Given the description of an element on the screen output the (x, y) to click on. 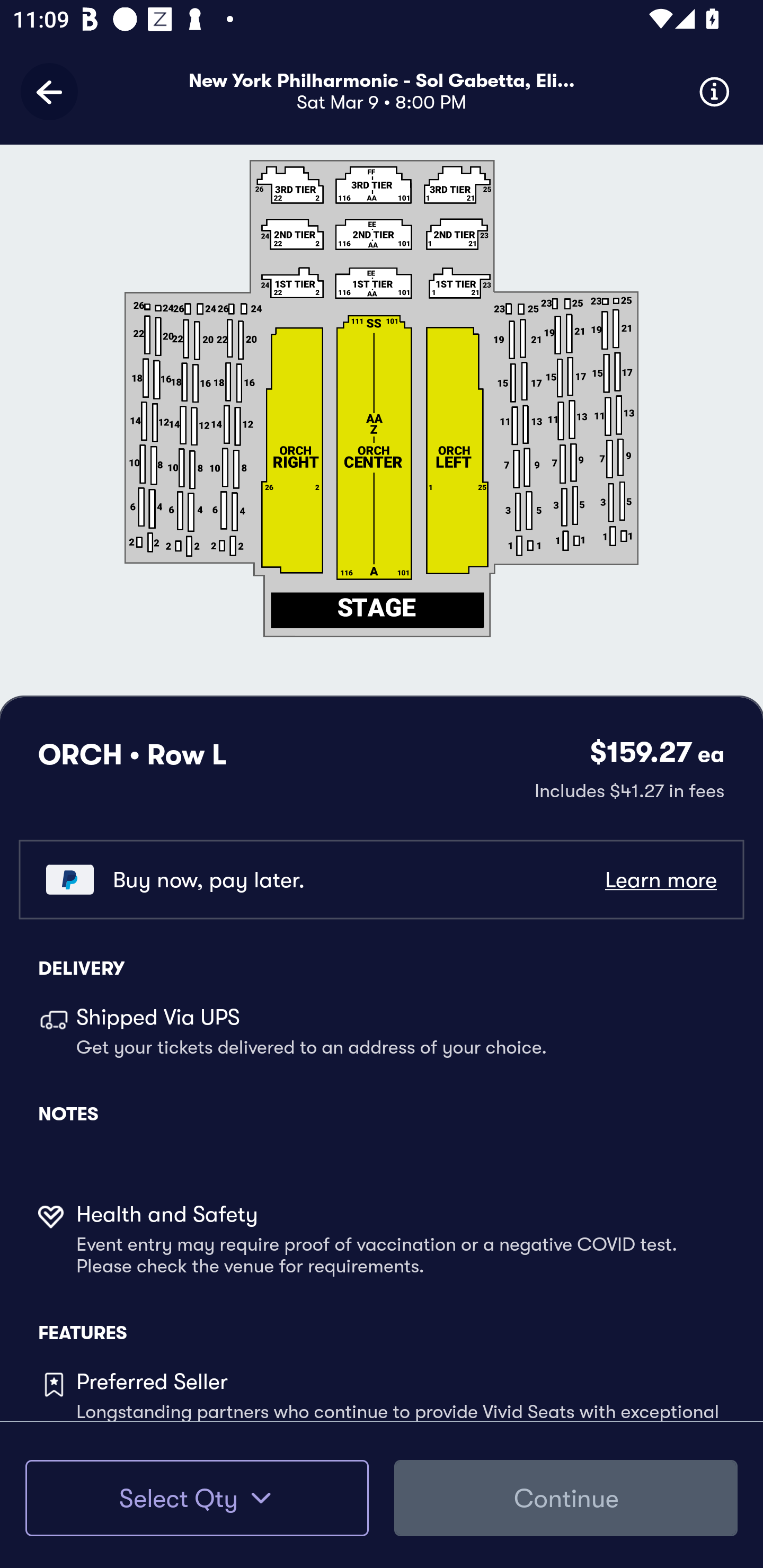
Learn more (660, 880)
Select Qty (196, 1497)
Continue (565, 1497)
